Given the description of an element on the screen output the (x, y) to click on. 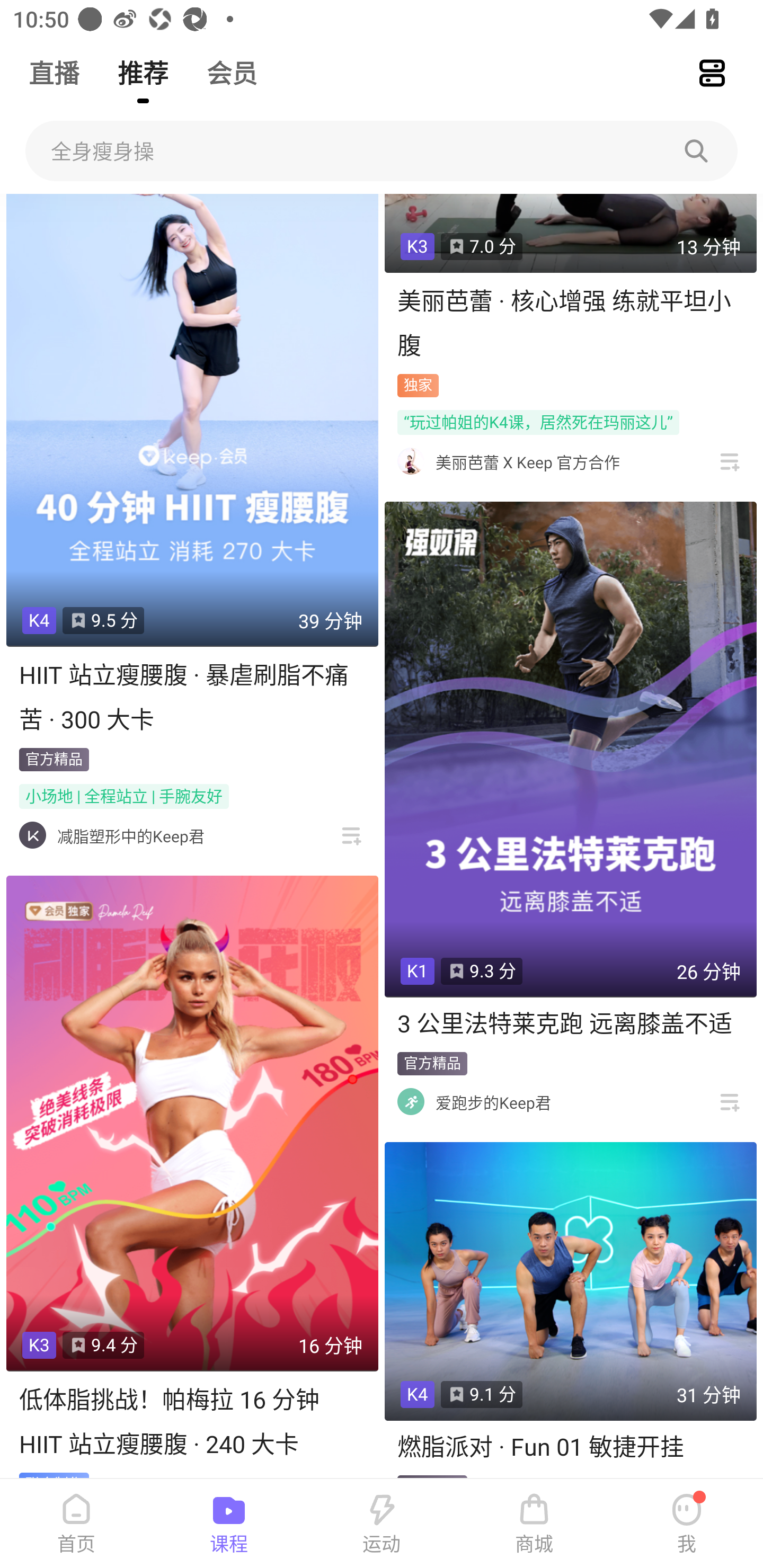
直播 (53, 64)
推荐 (142, 64)
会员 (231, 64)
全身瘦身操 (381, 150)
美丽芭蕾 X Keep 官方合作 (527, 462)
K1 9.3 分 26 分钟 3 公里法特莱克跑 远离膝盖不适 官方精品 爱跑步的Keep君 (570, 811)
减脂塑形中的Keep君 (130, 835)
爱跑步的Keep君 (492, 1102)
K4 9.1 分 31 分钟 燃脂派对 · Fun 01 敏捷开挂 (570, 1309)
首页 (76, 1523)
课程 (228, 1523)
运动 (381, 1523)
商城 (533, 1523)
我 (686, 1523)
